Given the description of an element on the screen output the (x, y) to click on. 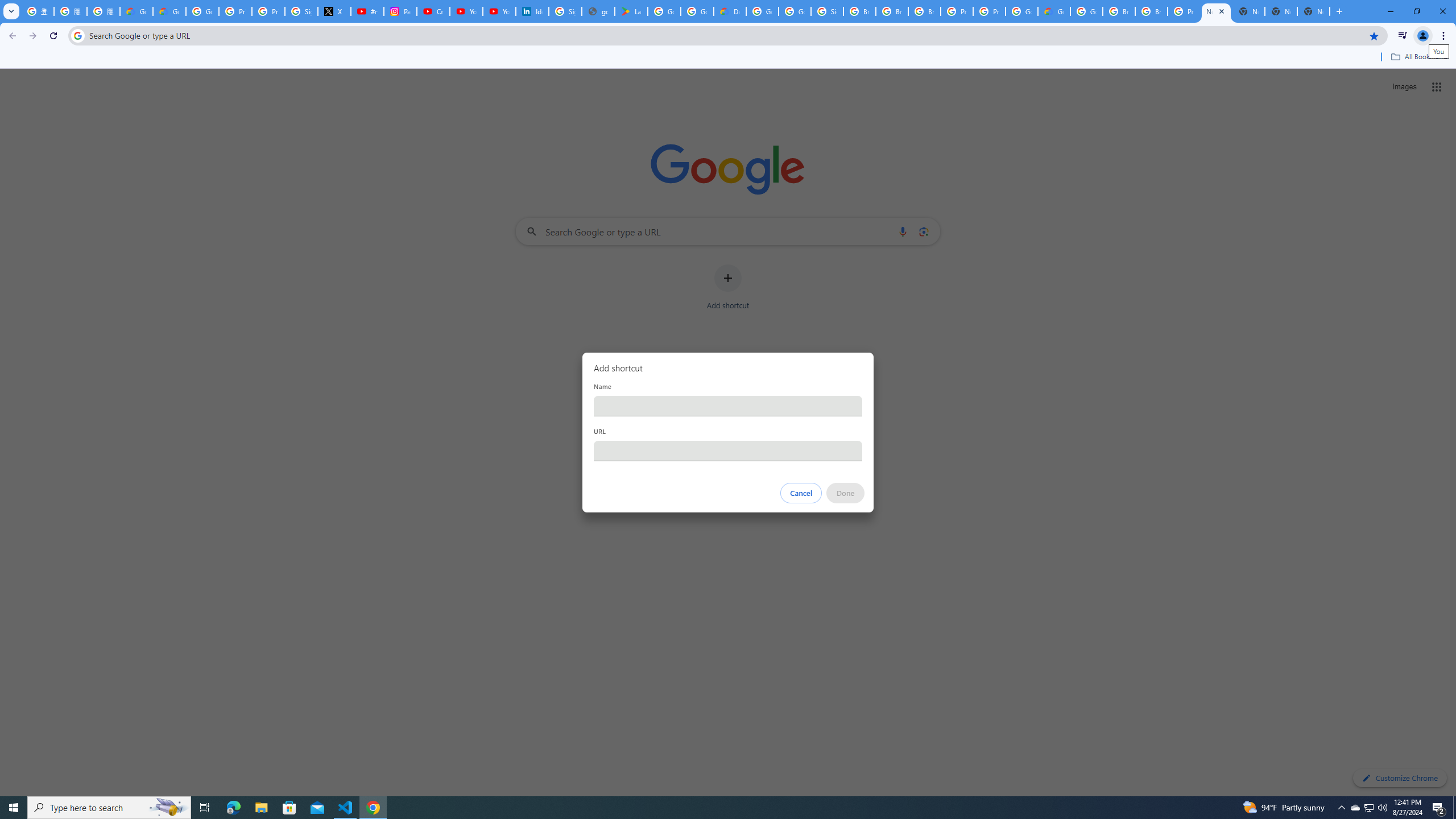
Browse Chrome as a guest - Computer - Google Chrome Help (891, 11)
Google Cloud Privacy Notice (136, 11)
Done (845, 493)
Google Cloud Estimate Summary (1053, 11)
Google Cloud Platform (1021, 11)
Google Cloud Platform (762, 11)
